Given the description of an element on the screen output the (x, y) to click on. 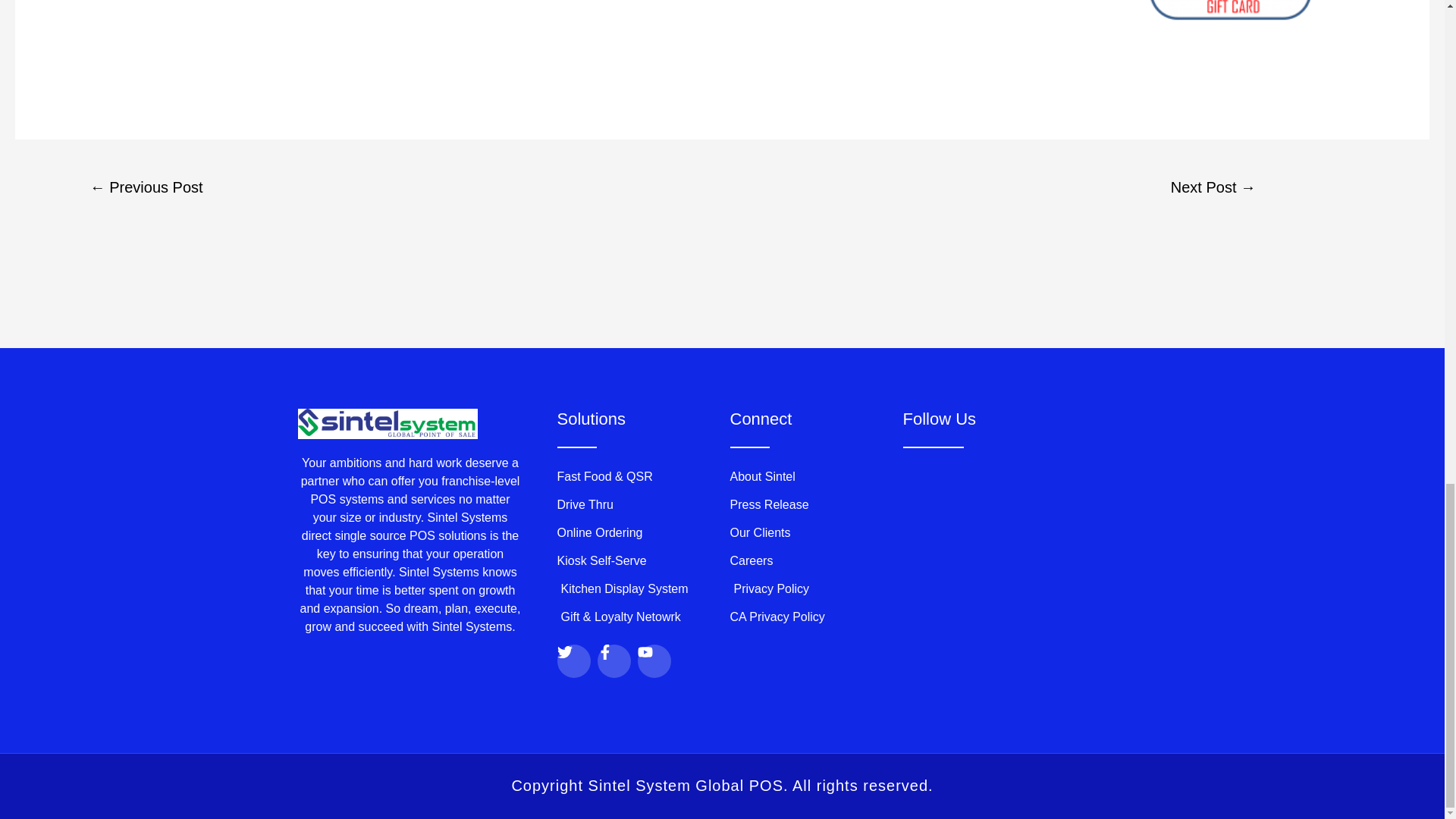
Security Camera Stores in Los Angeles (145, 189)
Restaurant POS Point of Sale (1232, 29)
